Given the description of an element on the screen output the (x, y) to click on. 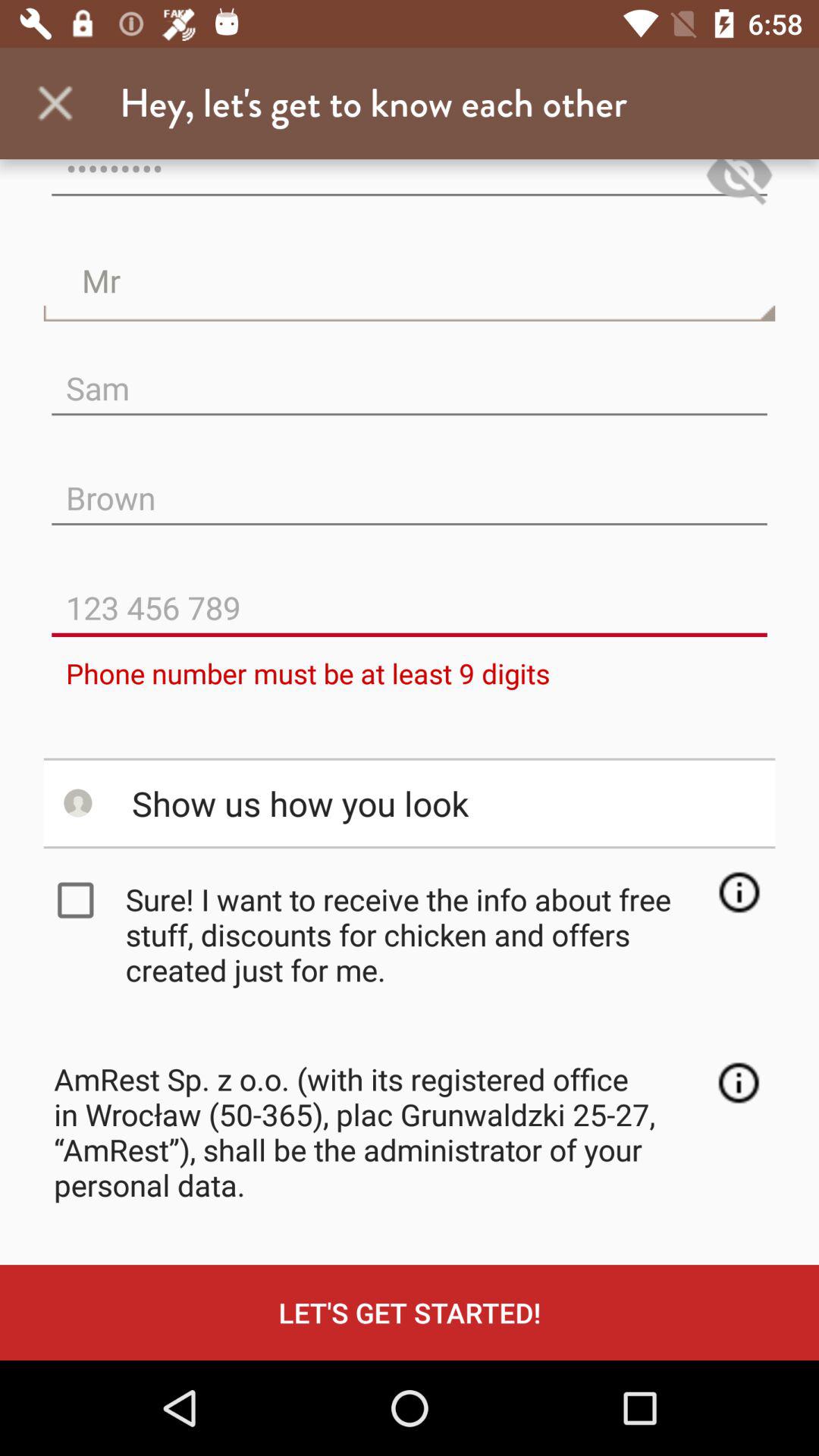
turn off the item above the mr icon (739, 185)
